Given the description of an element on the screen output the (x, y) to click on. 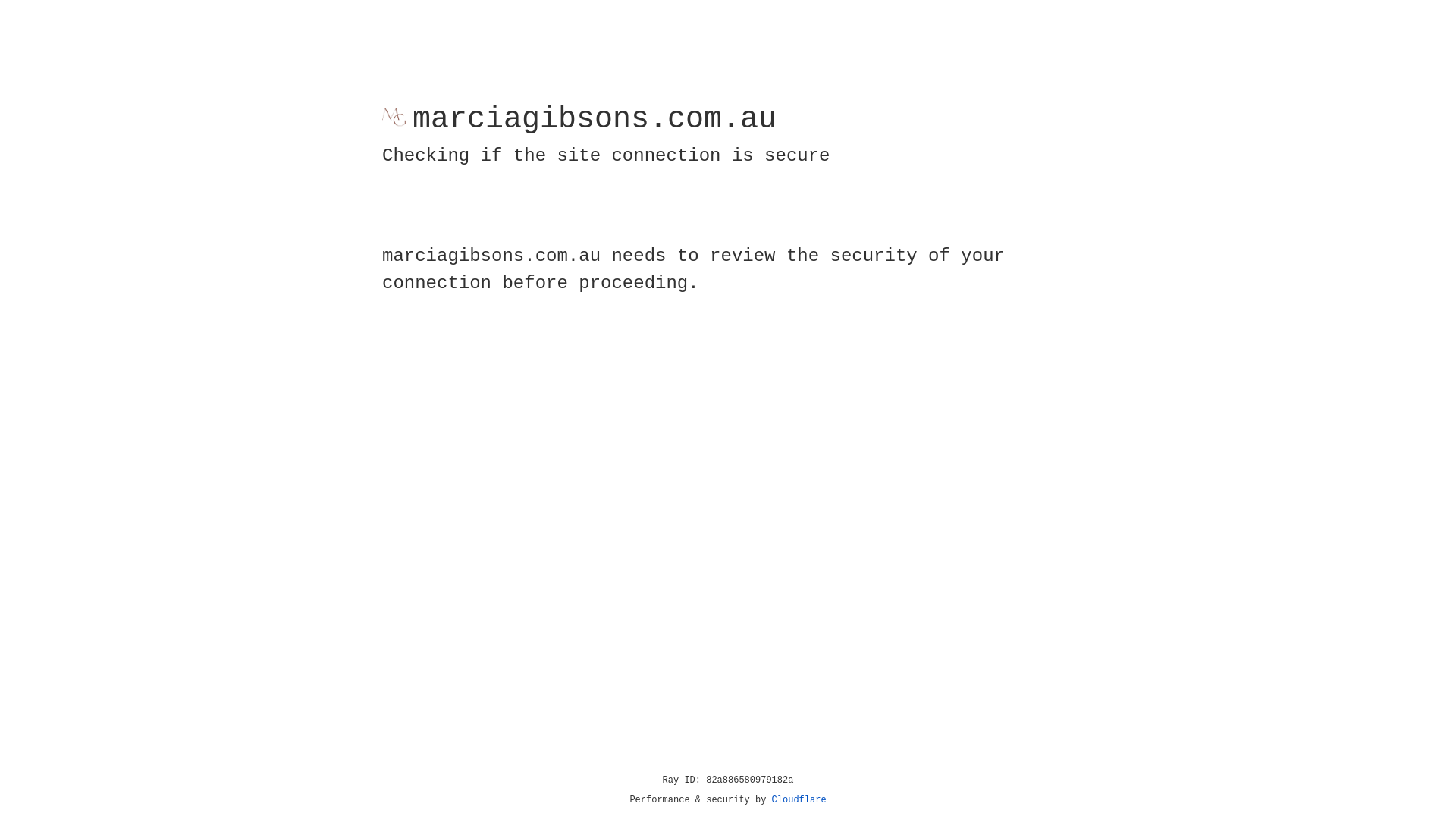
Cloudflare Element type: text (798, 799)
